Given the description of an element on the screen output the (x, y) to click on. 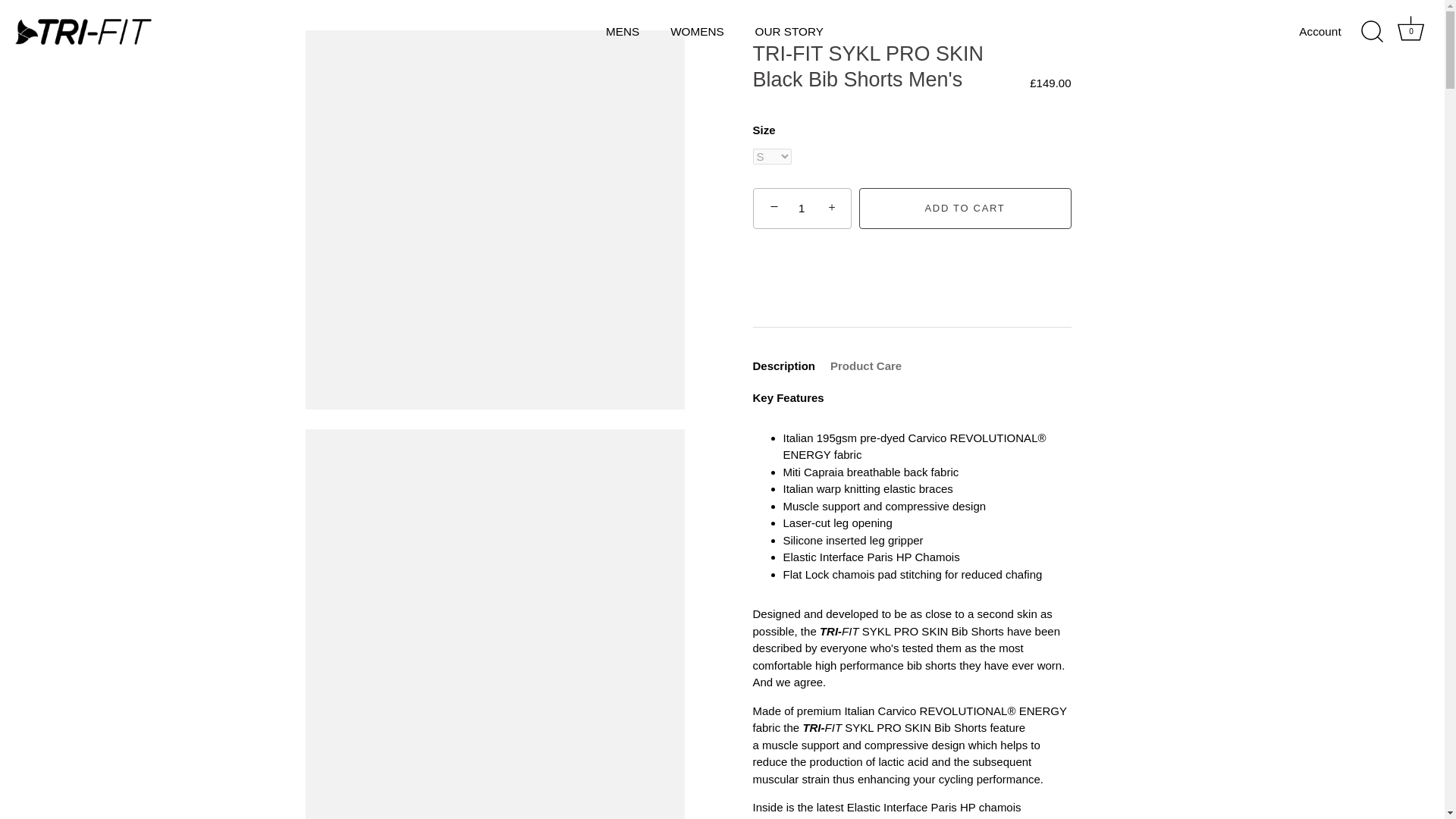
MENS (622, 31)
Cart (1410, 28)
WOMENS (697, 31)
